Given the description of an element on the screen output the (x, y) to click on. 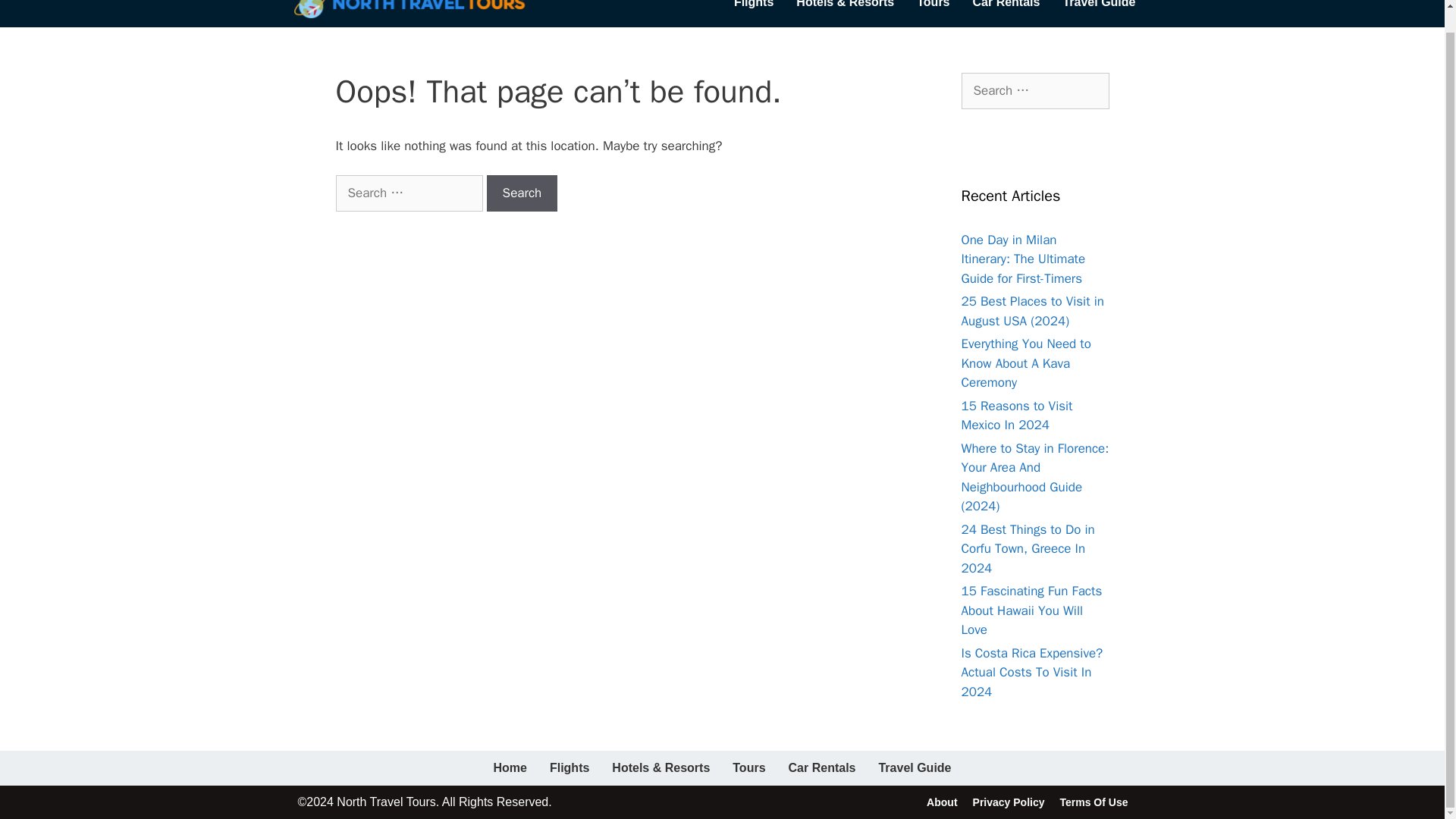
Everything You Need to Know About A Kava Ceremony (1025, 362)
Is Costa Rica Expensive? Actual Costs To Visit In 2024 (1031, 671)
Tours (932, 9)
Car Rentals (1005, 9)
Privacy Policy (1008, 801)
24 Best Things to Do in Corfu Town, Greece In 2024 (1027, 548)
Search (521, 193)
Flights (568, 768)
Travel Guide (1099, 9)
Home (509, 768)
Search (35, 6)
Terms Of Use (1093, 801)
Search for: (1034, 90)
About (940, 801)
